Given the description of an element on the screen output the (x, y) to click on. 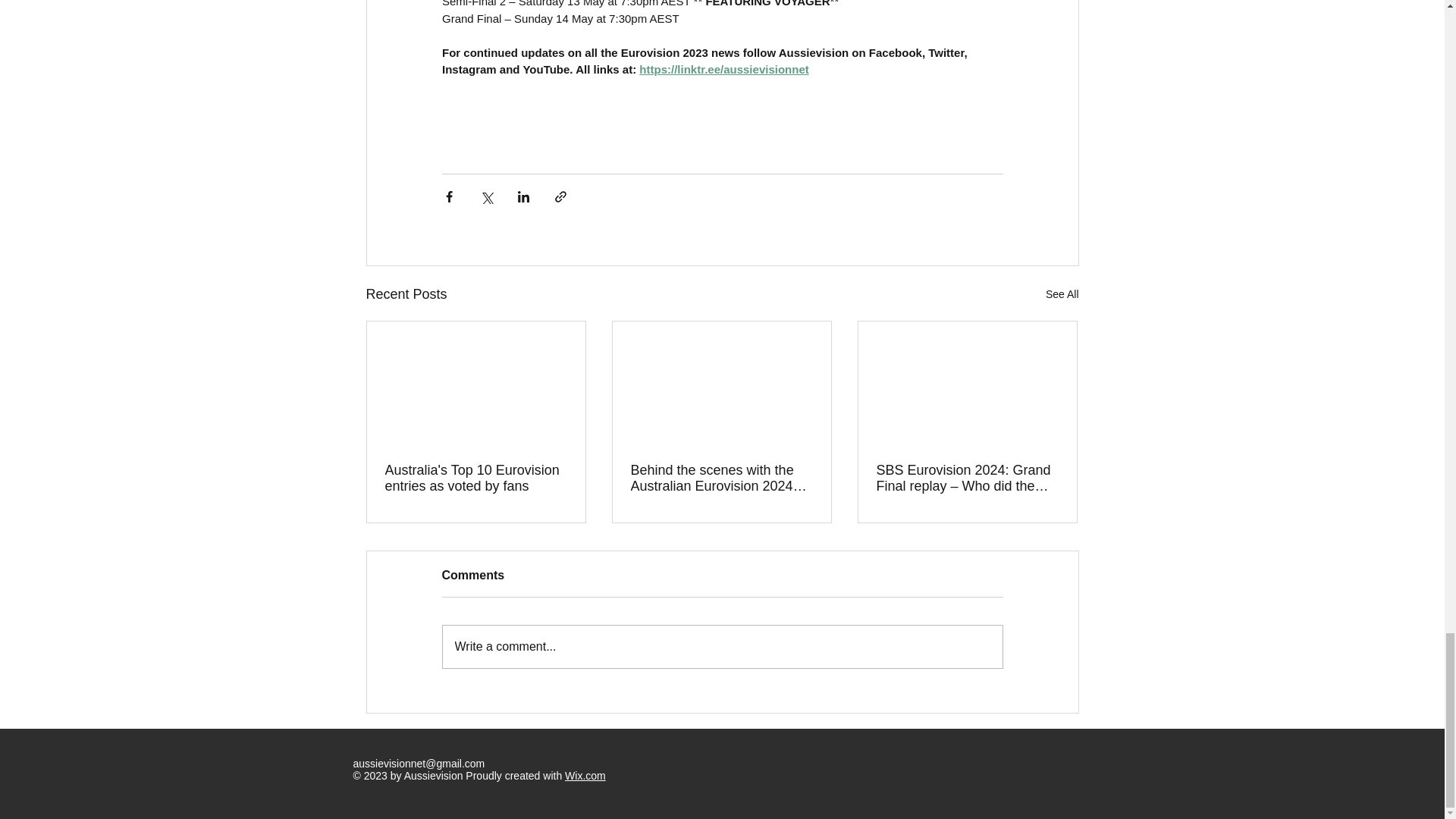
Behind the scenes with the Australian Eurovision 2024 jury (721, 478)
Wix.com (584, 775)
See All (1061, 294)
Write a comment... (722, 646)
Australia's Top 10 Eurovision entries as voted by fans (476, 478)
